Given the description of an element on the screen output the (x, y) to click on. 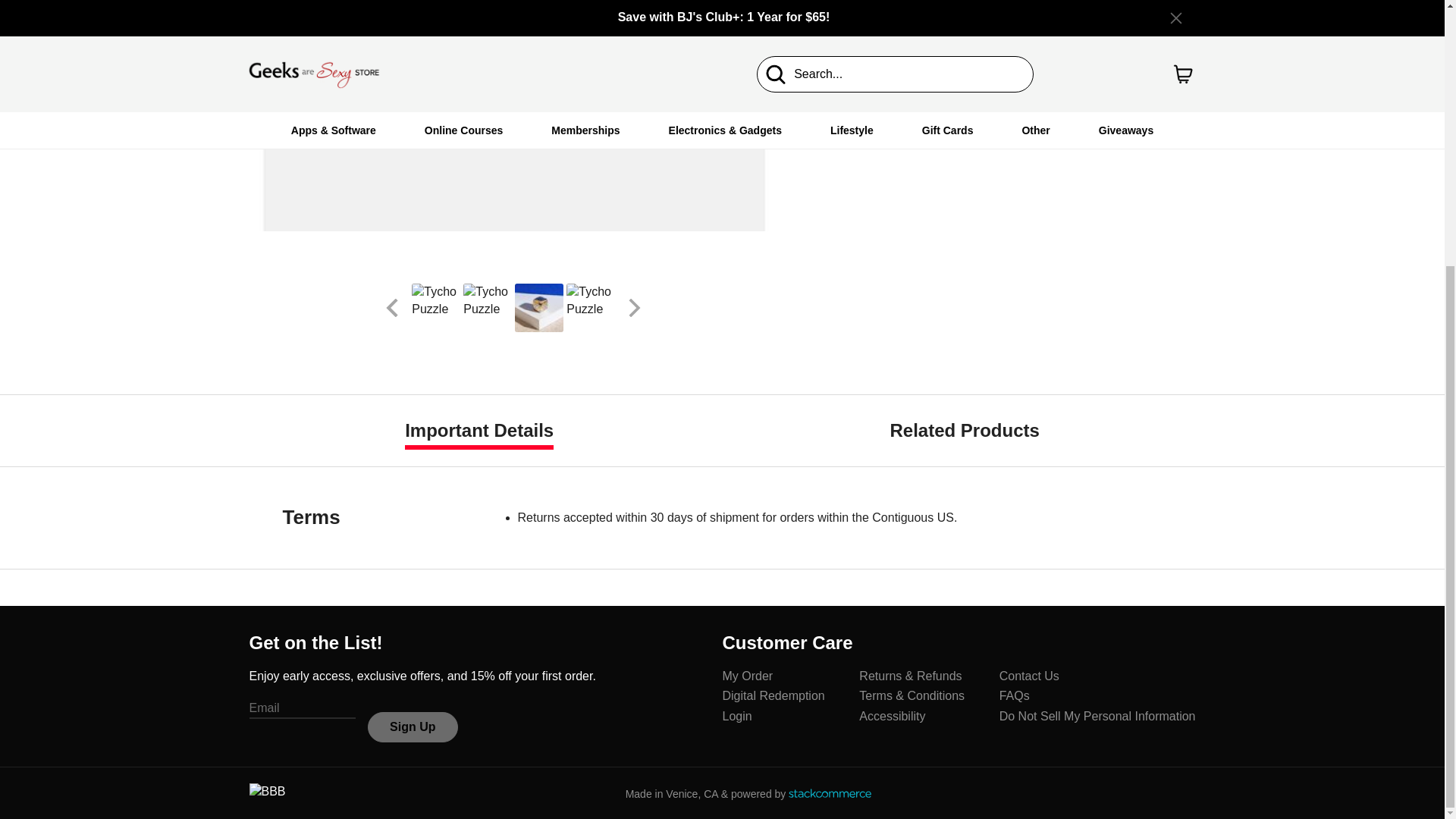
StackCommerce (829, 793)
